Given the description of an element on the screen output the (x, y) to click on. 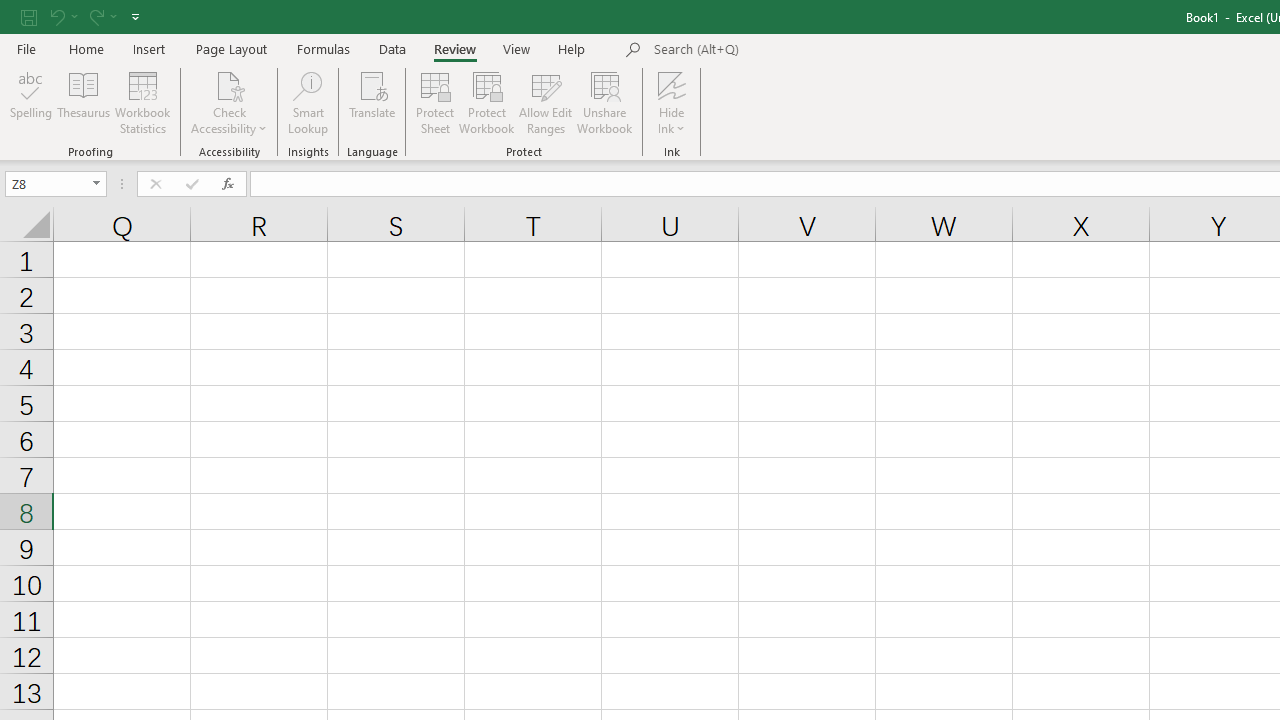
Unshare Workbook (604, 102)
Workbook Statistics (142, 102)
Thesaurus... (83, 102)
